Given the description of an element on the screen output the (x, y) to click on. 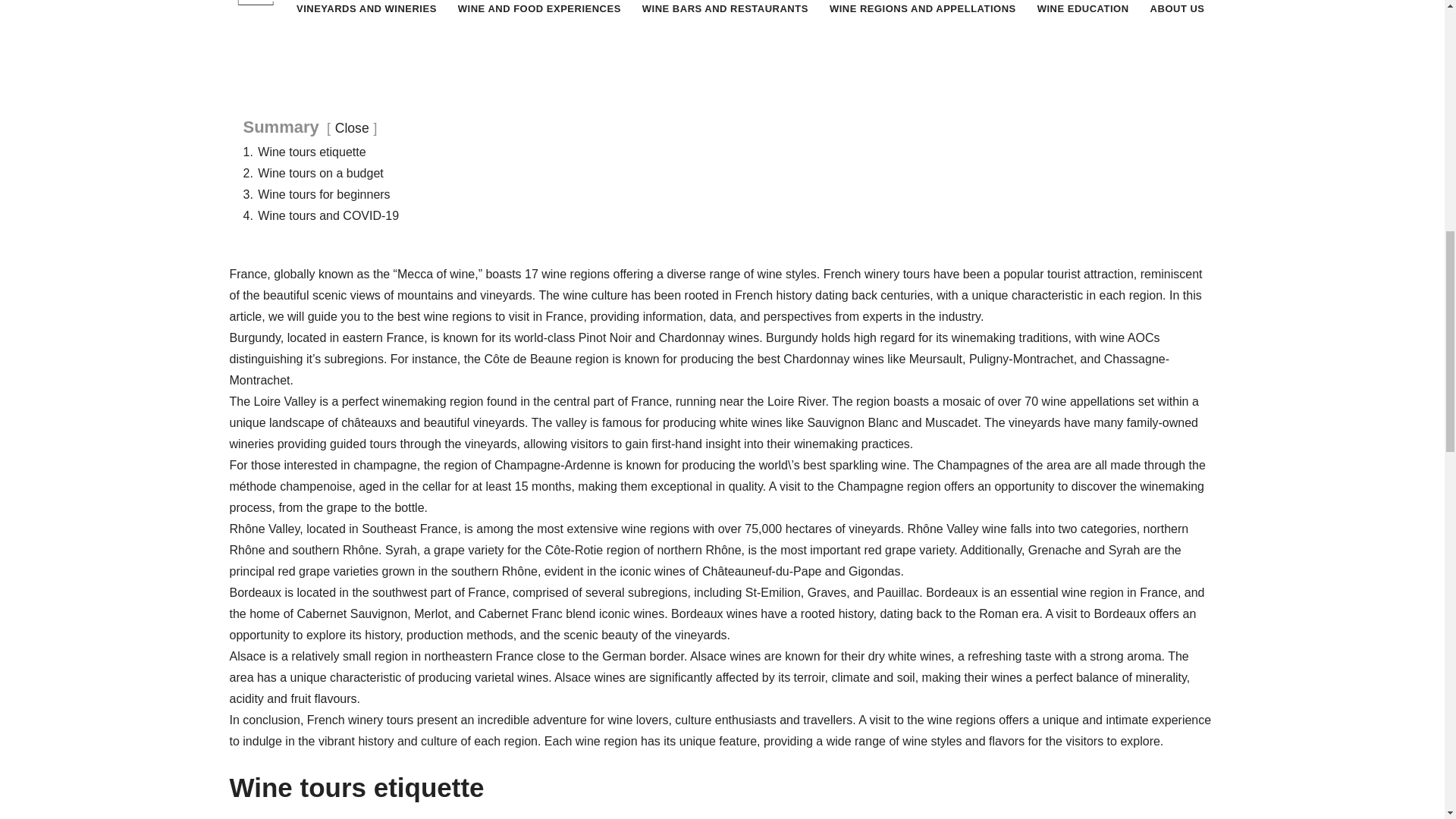
3. Wine tours for beginners (316, 194)
1. Wine tours etiquette (304, 151)
Close (351, 127)
2. Wine tours on a budget (312, 173)
4. Wine tours and COVID-19 (320, 215)
